Given the description of an element on the screen output the (x, y) to click on. 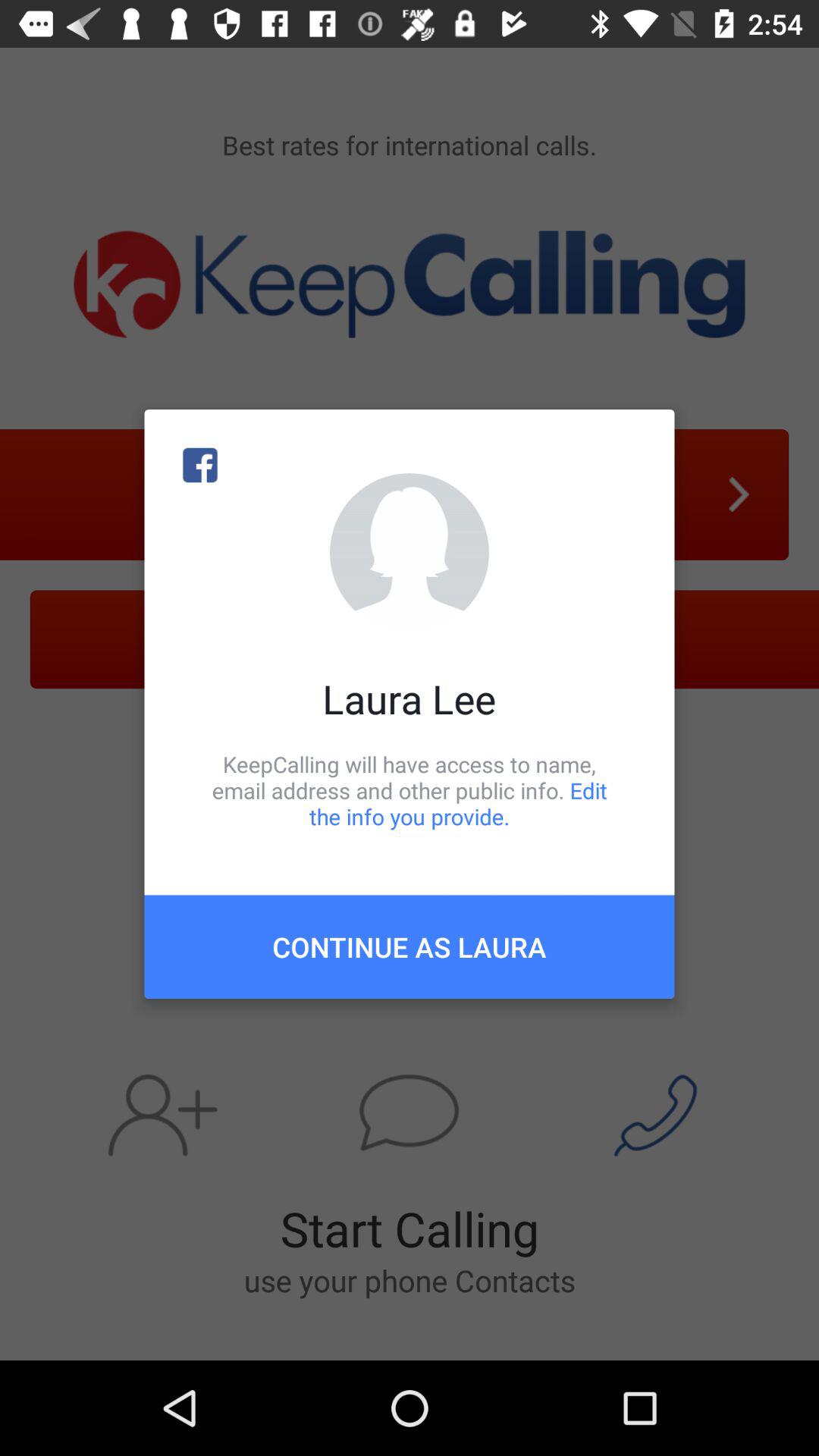
swipe to the keepcalling will have icon (409, 790)
